Given the description of an element on the screen output the (x, y) to click on. 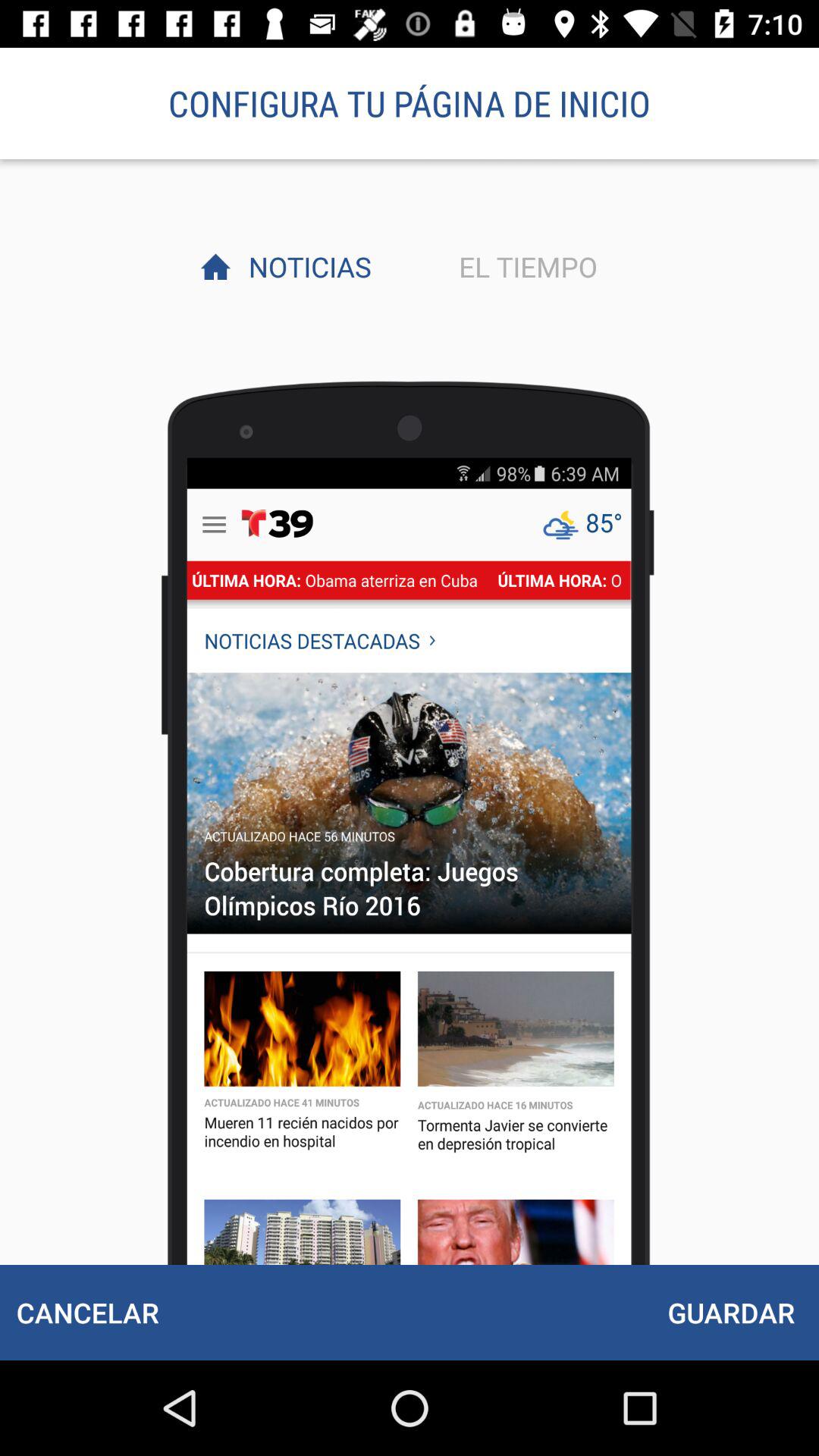
launch item below el tiempo (731, 1312)
